Given the description of an element on the screen output the (x, y) to click on. 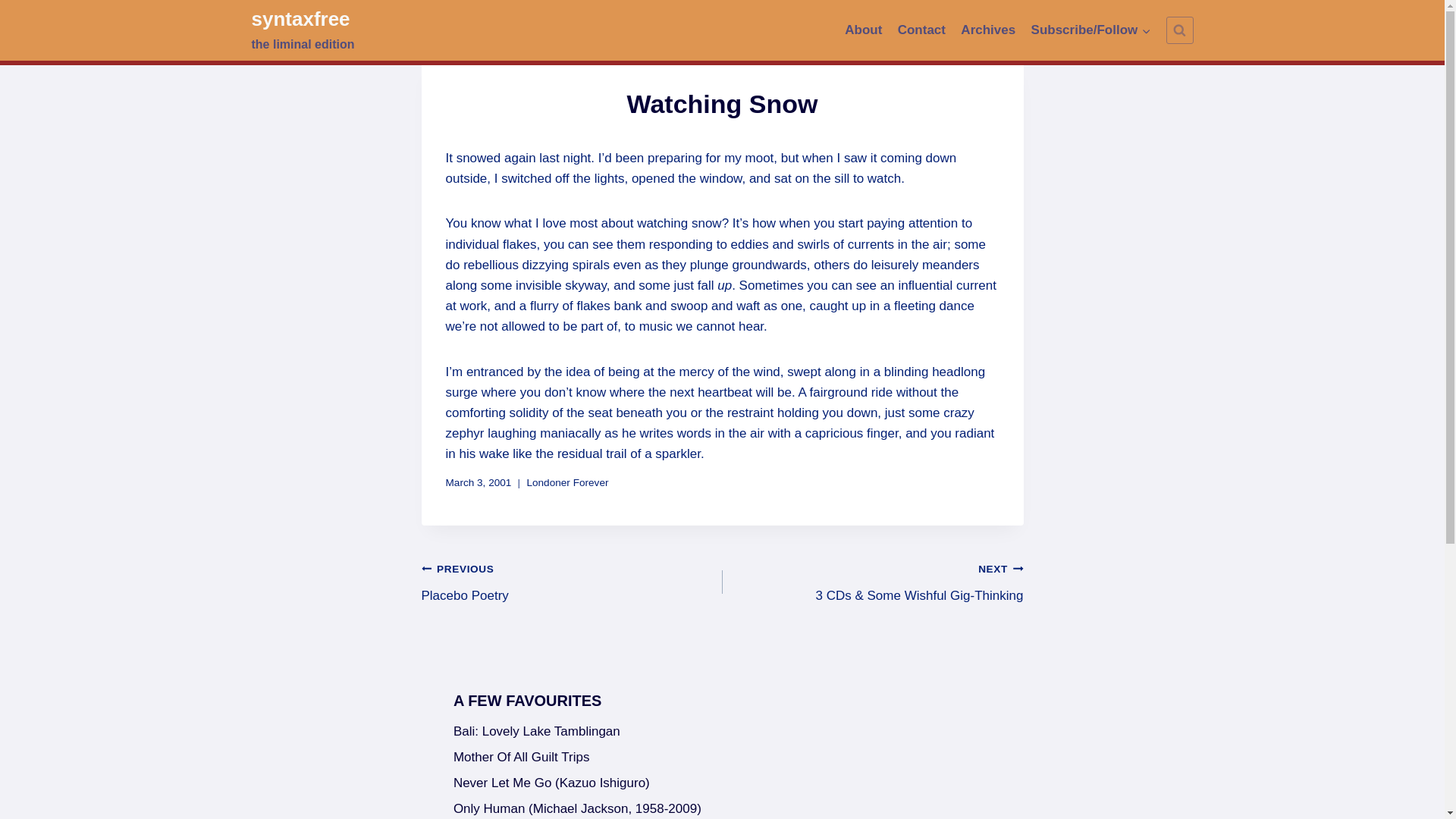
Contact (921, 30)
Mother Of All Guilt Trips (303, 30)
About (721, 758)
Skip to content (863, 30)
Bali: Lovely Lake Tamblingan (988, 30)
Londoner Forever (721, 732)
